Given the description of an element on the screen output the (x, y) to click on. 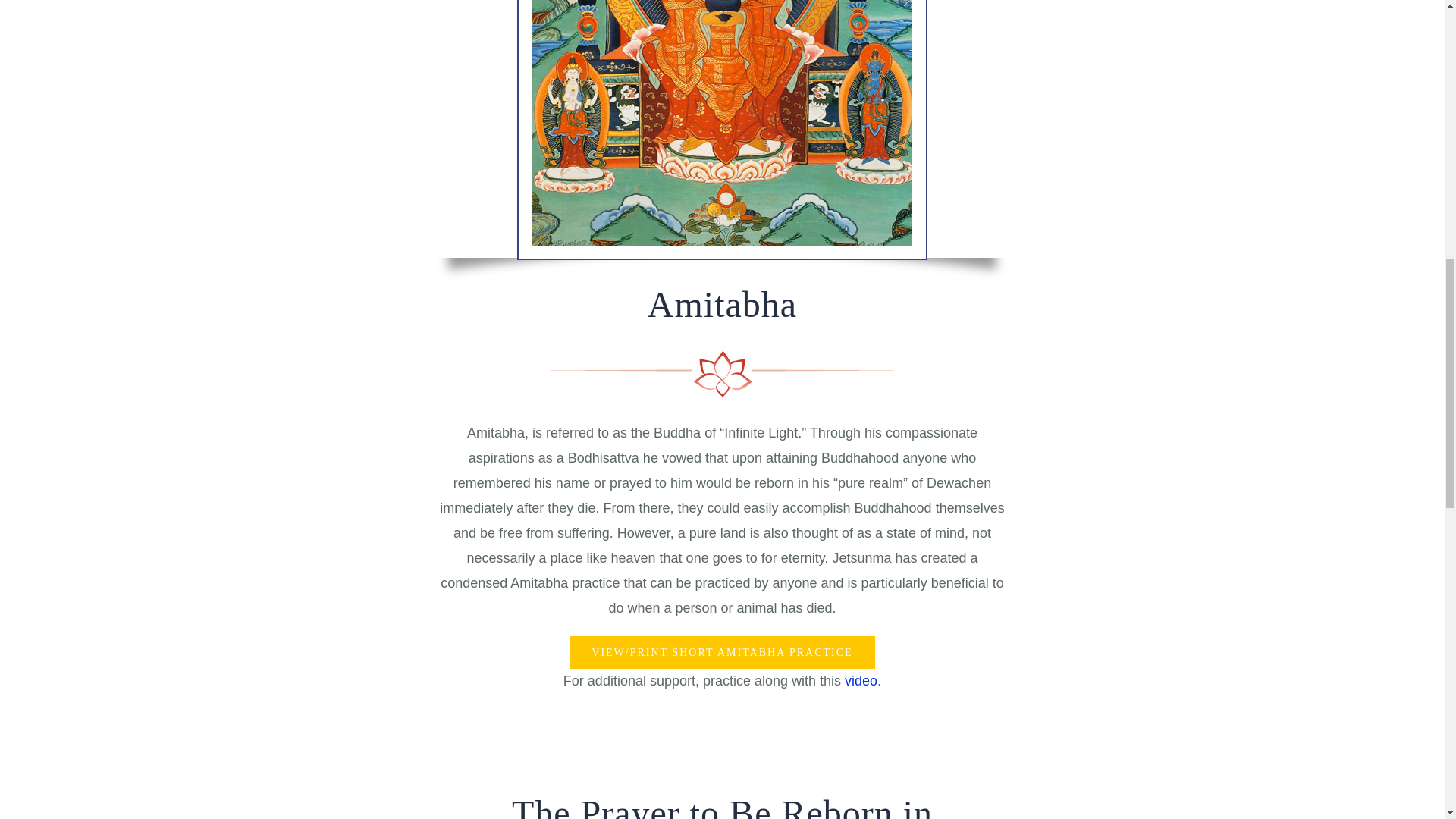
Amitabha Buddha (721, 130)
Lotus line graphic (721, 748)
Lotus line graphic (721, 373)
